Given the description of an element on the screen output the (x, y) to click on. 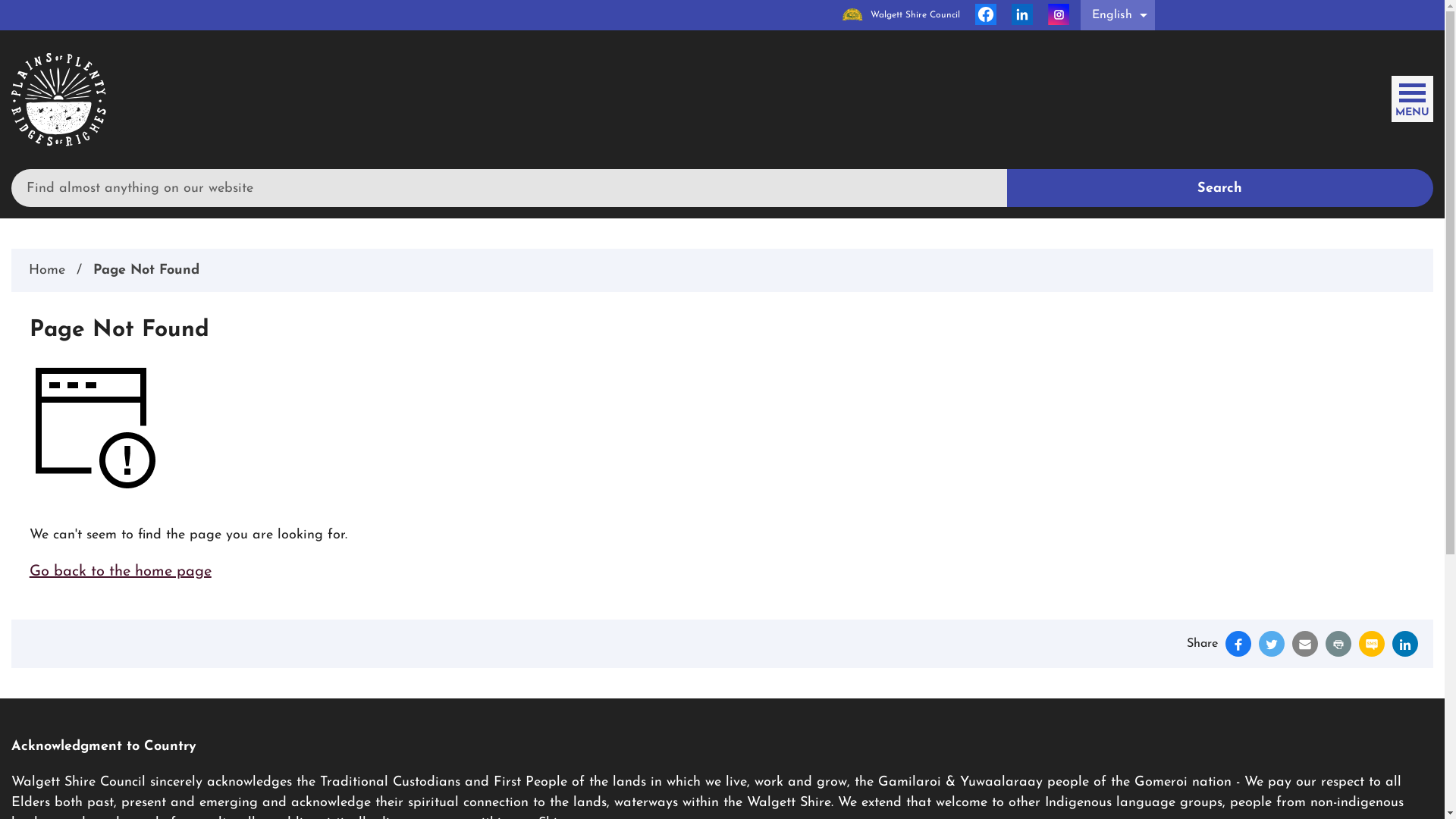
Instagram Element type: text (1058, 14)
Facebook Element type: text (1238, 643)
Twitter Element type: text (1271, 643)
Home - Walgett Shire Council - Logo Element type: text (58, 99)
Email Element type: text (1304, 643)
MENU Element type: text (1412, 95)
Search Element type: text (1220, 188)
Go back to the home page Element type: text (120, 571)
Print Element type: text (1338, 643)
SMS Element type: text (1371, 643)
Facebook Element type: text (985, 14)
Walgett Shire Council Element type: text (900, 14)
Home Element type: text (46, 270)
Your current preferred language is
English Element type: text (1116, 15)
LinkedIn Element type: text (1405, 643)
LinkedIn Element type: text (1021, 14)
